Given the description of an element on the screen output the (x, y) to click on. 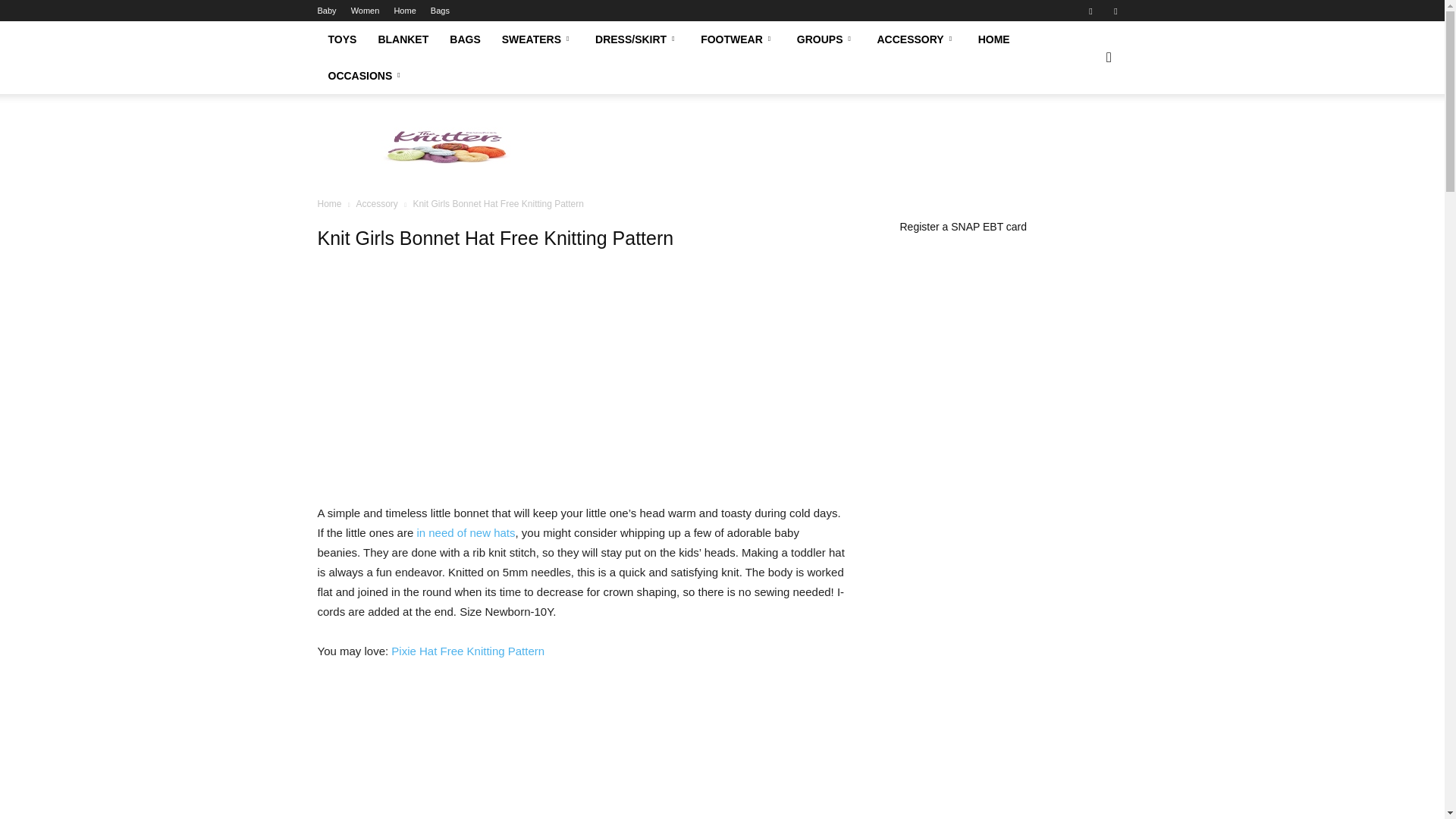
Facebook (1090, 10)
Advertisement (850, 146)
Pinterest (1114, 10)
Advertisement (580, 397)
View all posts in Accessory (376, 204)
